Given the description of an element on the screen output the (x, y) to click on. 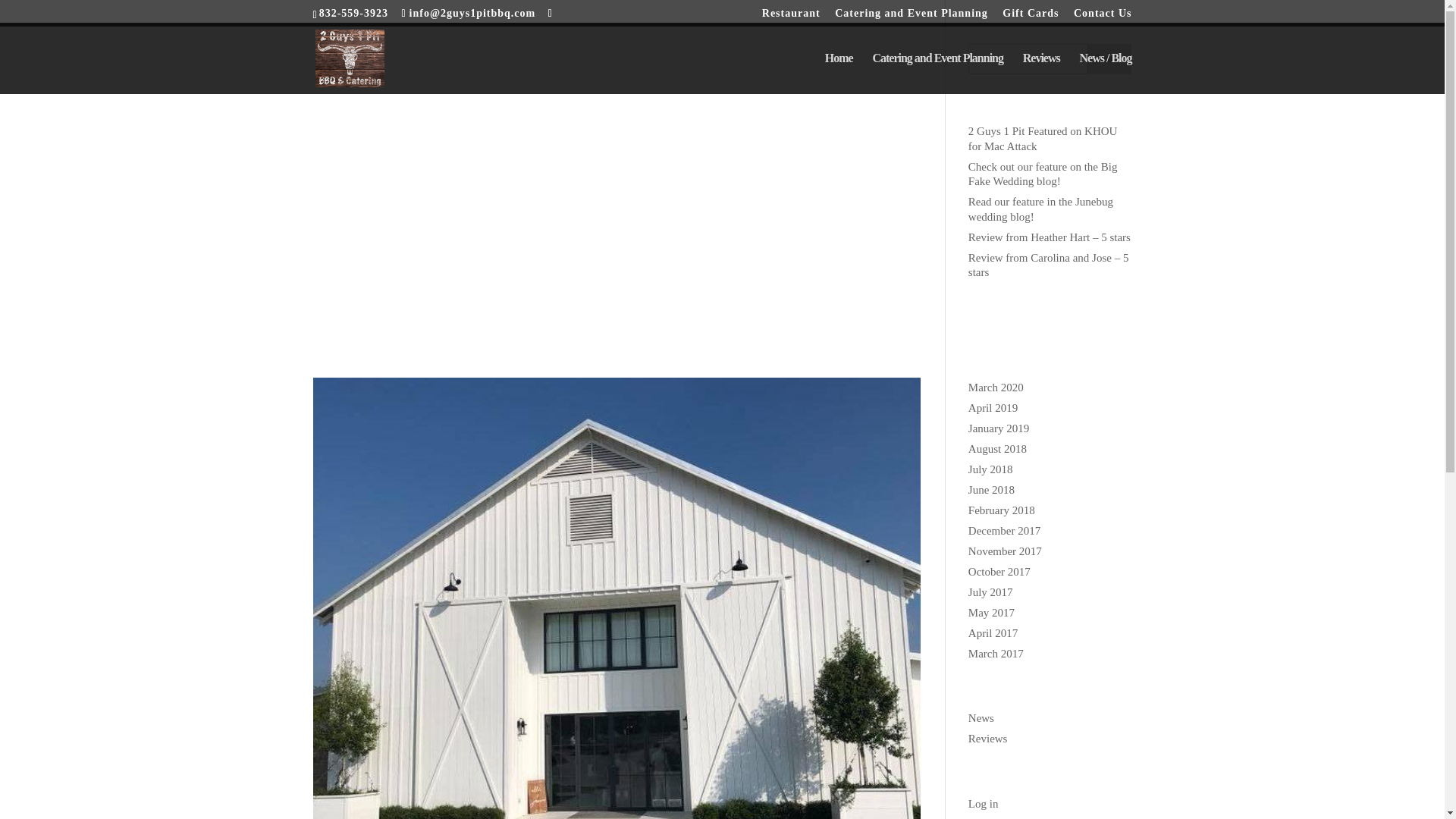
Contact Us (1103, 16)
Gift Cards (1030, 16)
Check out our feature on the Big Fake Wedding blog! (1043, 174)
Review from James Carnes (451, 57)
August 2018 (997, 449)
March 2020 (995, 386)
Review from Jordan Oliver (452, 279)
Review from Shelia Blue (441, 168)
June 2018 (991, 490)
April 2019 (992, 408)
